Given the description of an element on the screen output the (x, y) to click on. 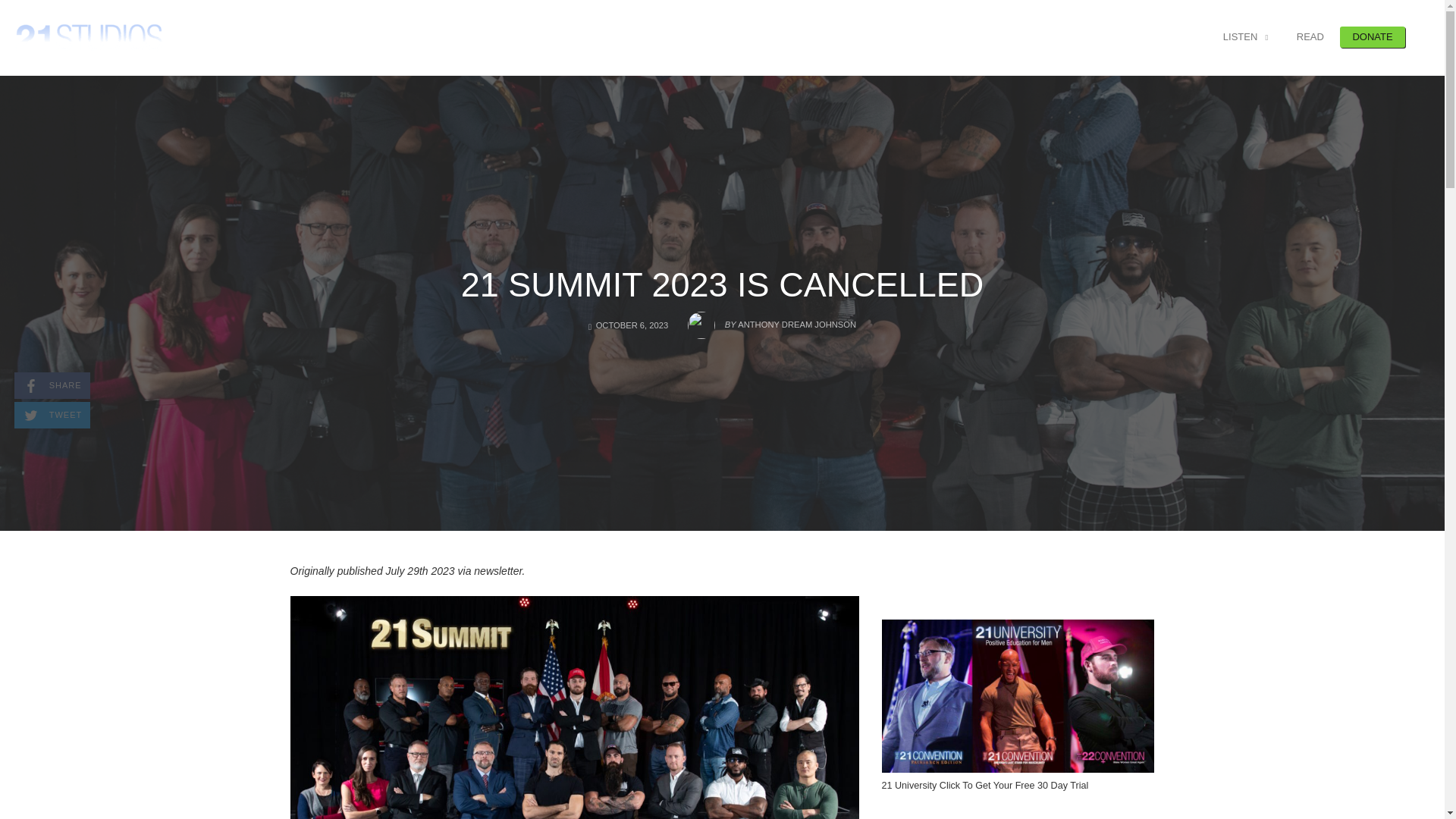
READ (1310, 36)
21 SUMMIT 2023 IS CANCELLED (722, 284)
BY ANTHONY DREAM JOHNSON (771, 320)
21 Studios (89, 37)
OPEN SEARCH FORM (52, 385)
DONATE (1422, 36)
LISTEN (1371, 36)
